Given the description of an element on the screen output the (x, y) to click on. 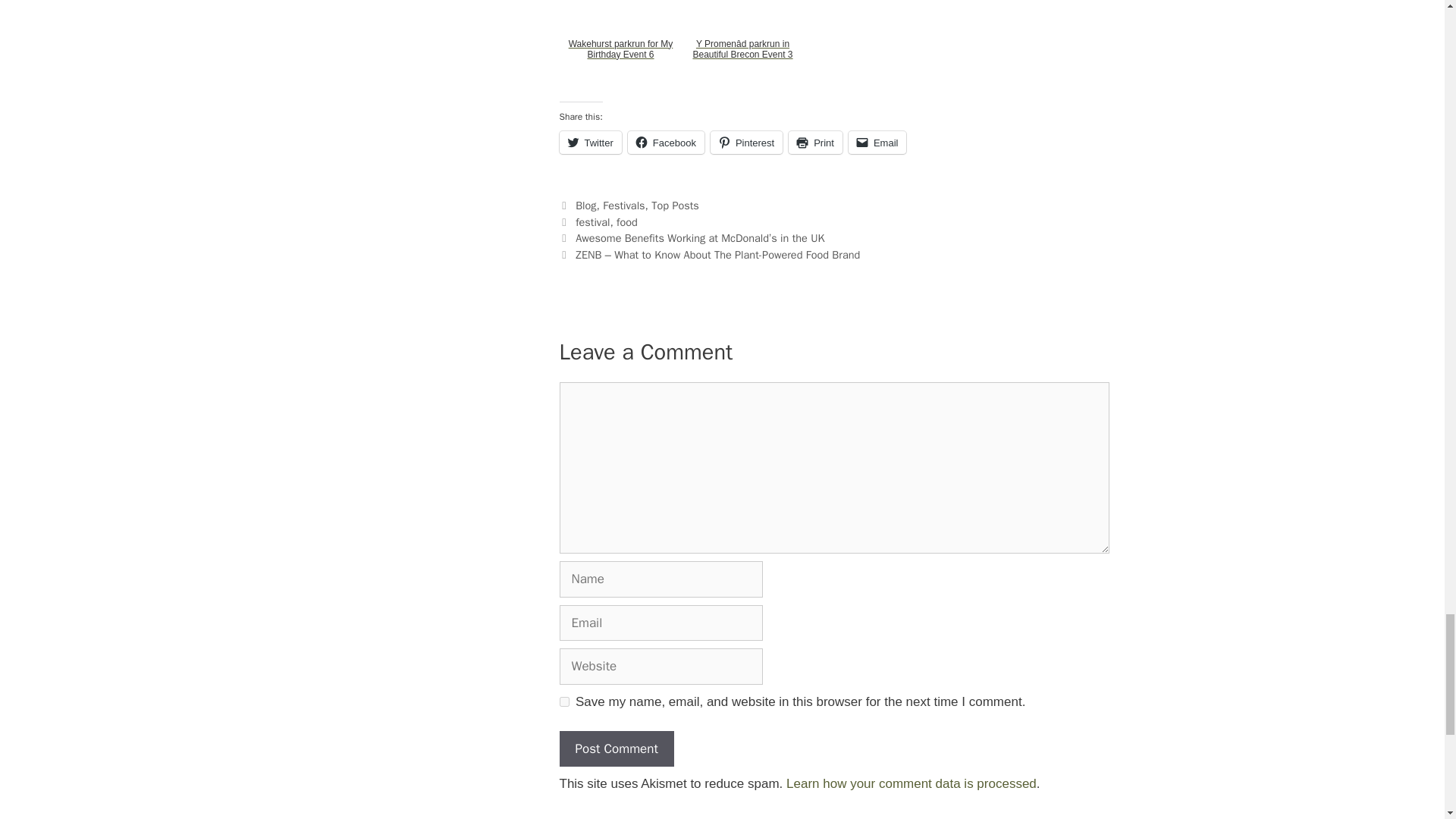
Click to share on Facebook (665, 142)
Click to share on Pinterest (746, 142)
Click to email a link to a friend (877, 142)
Wakehurst parkrun for My Birthday Event 6 (620, 48)
yes (564, 701)
Click to share on Twitter (590, 142)
Click to print (816, 142)
Post Comment (616, 749)
